Given the description of an element on the screen output the (x, y) to click on. 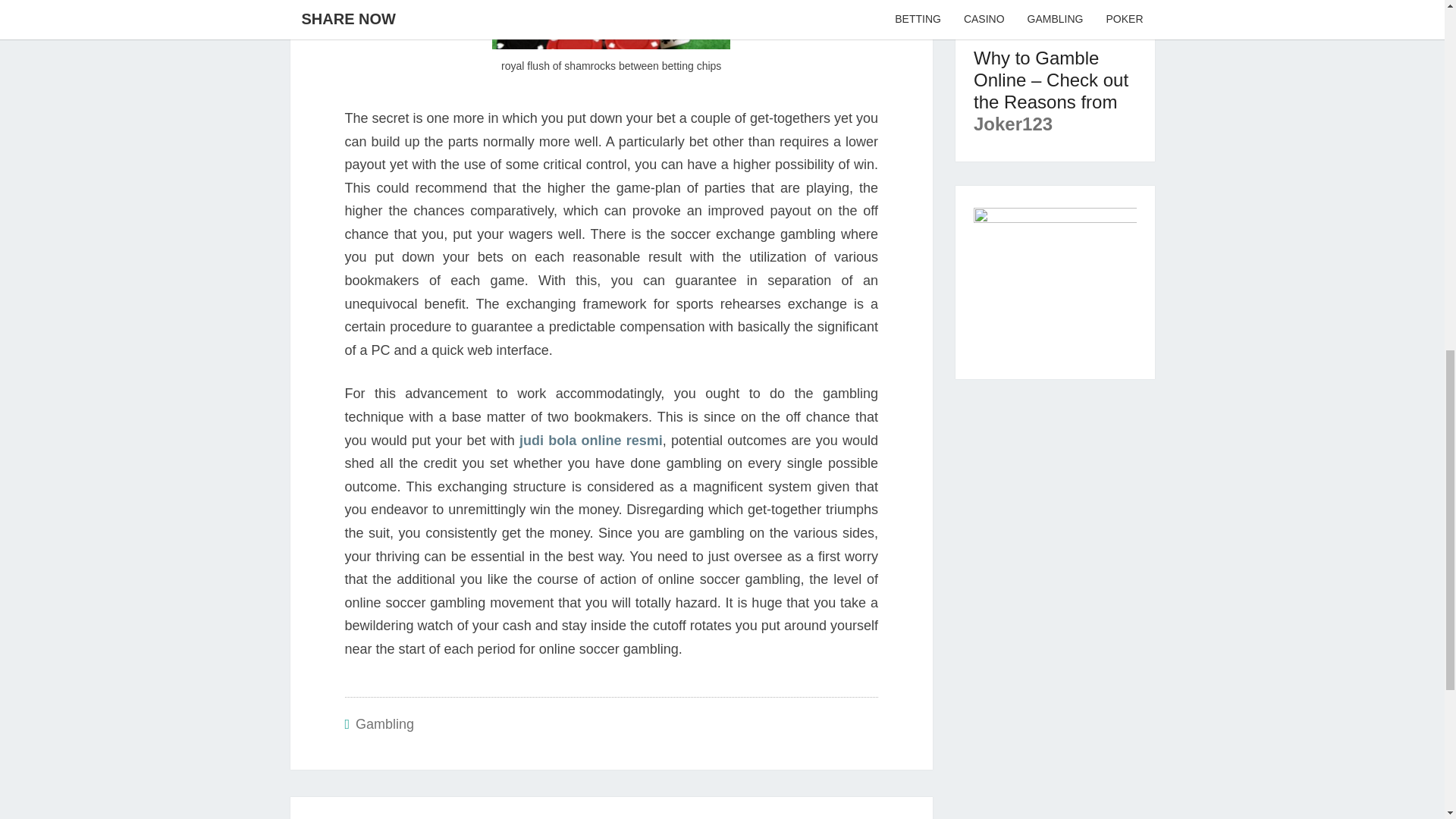
judi bola online resmi (590, 440)
Gambling (384, 724)
Joker123 (1013, 123)
Slot online (1020, 18)
